Given the description of an element on the screen output the (x, y) to click on. 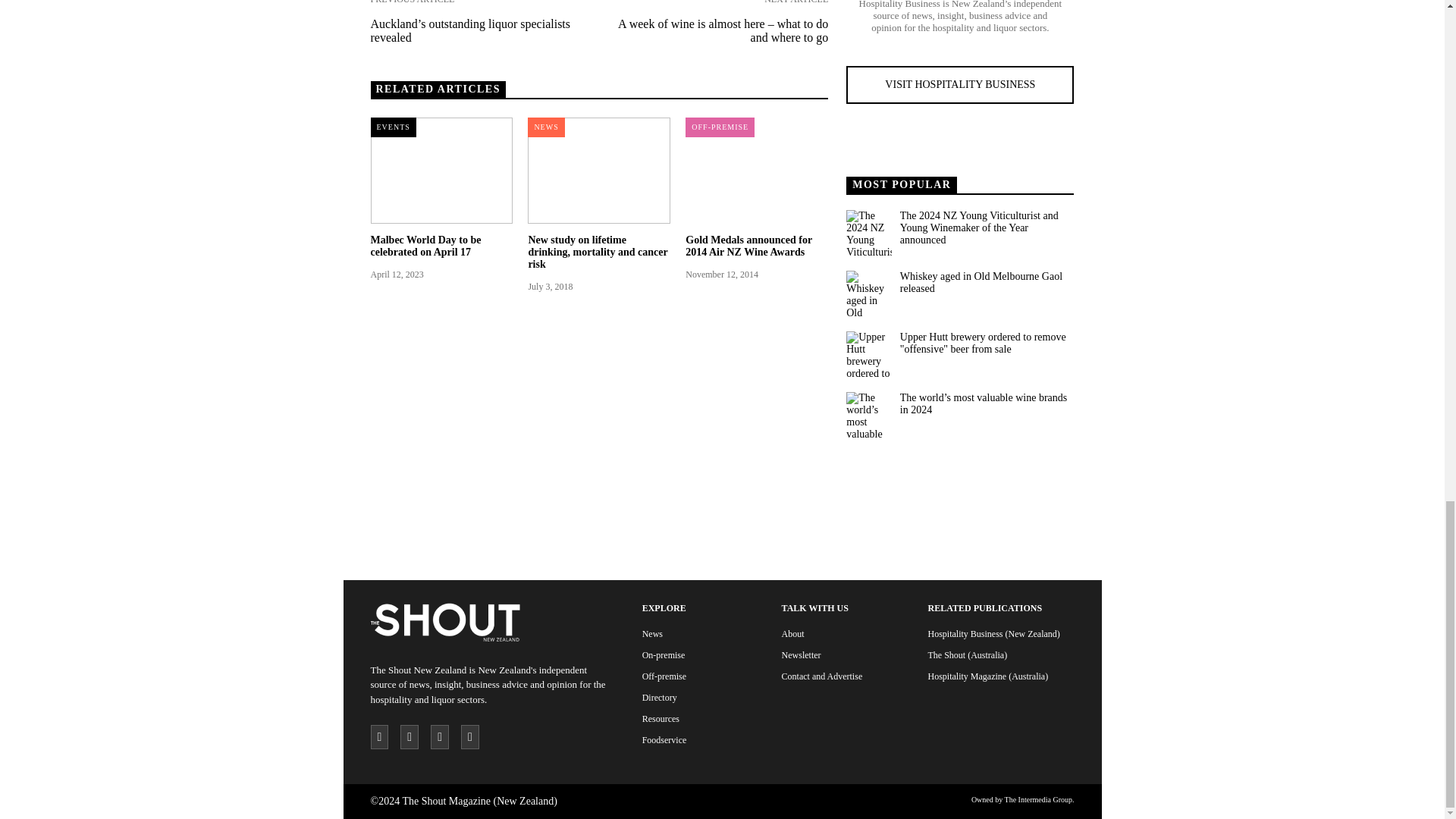
Whiskey aged in Old Melbourne Gaol released (986, 282)
Whiskey aged in Old Melbourne Gaol released (868, 293)
